Given the description of an element on the screen output the (x, y) to click on. 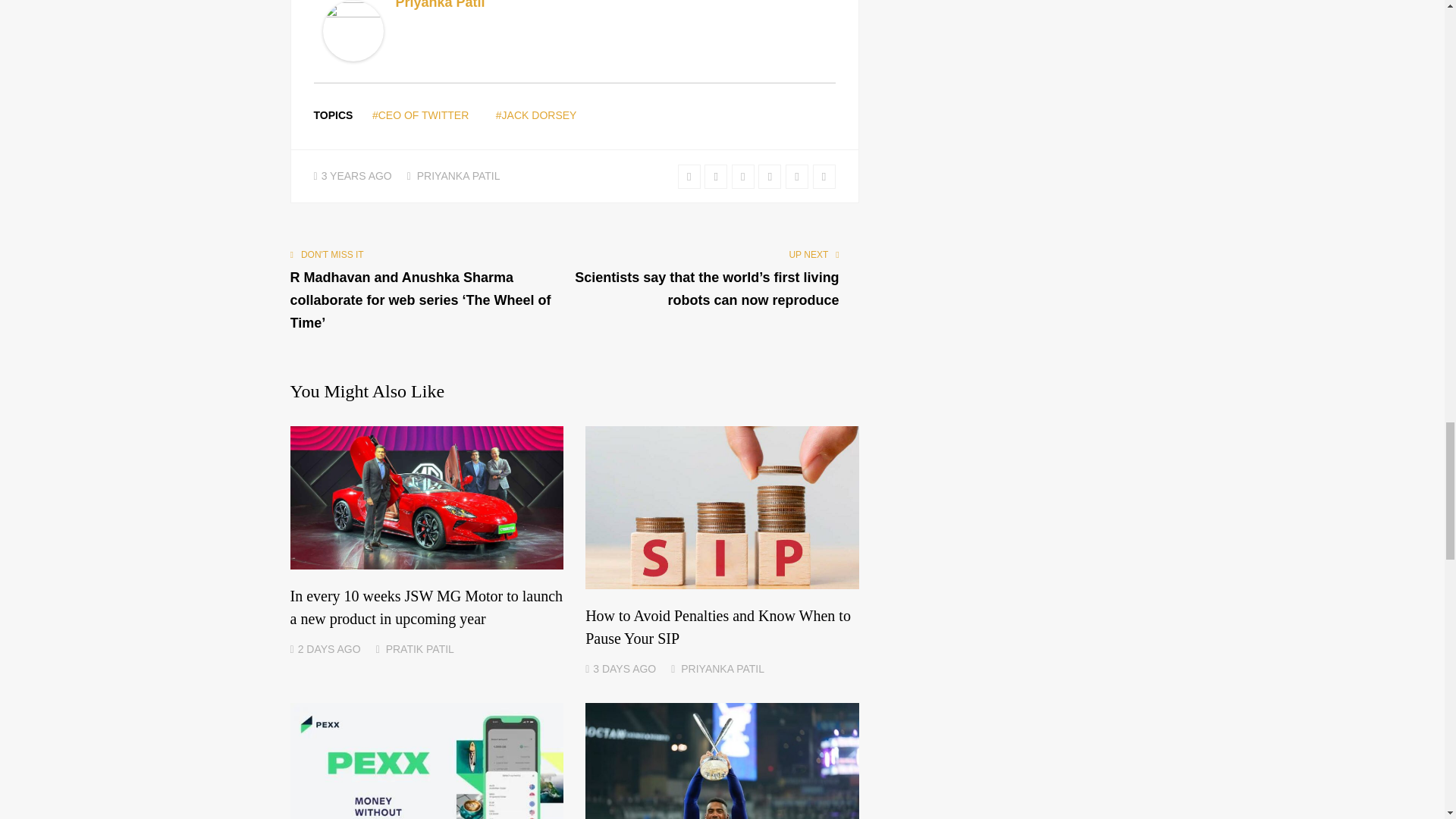
Priyanka Patil (353, 55)
Priyanka Patil (440, 4)
